Given the description of an element on the screen output the (x, y) to click on. 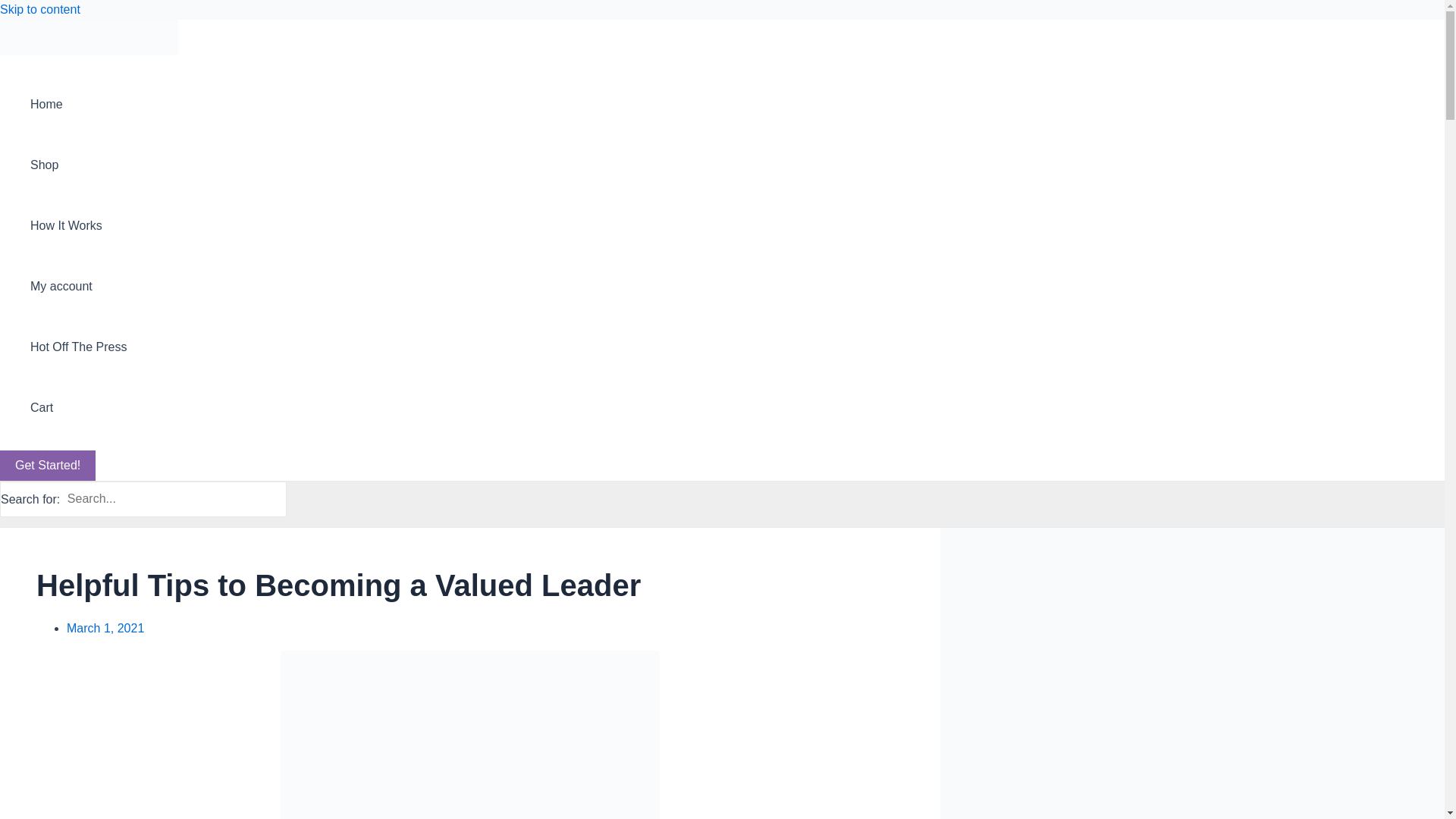
Skip to content (40, 9)
Get Started! (48, 465)
My account (78, 286)
Shop (78, 165)
Home (78, 104)
Skip to content (40, 9)
How It Works (78, 225)
March 1, 2021 (105, 627)
Hot Off The Press (78, 346)
Cart (78, 407)
